Given the description of an element on the screen output the (x, y) to click on. 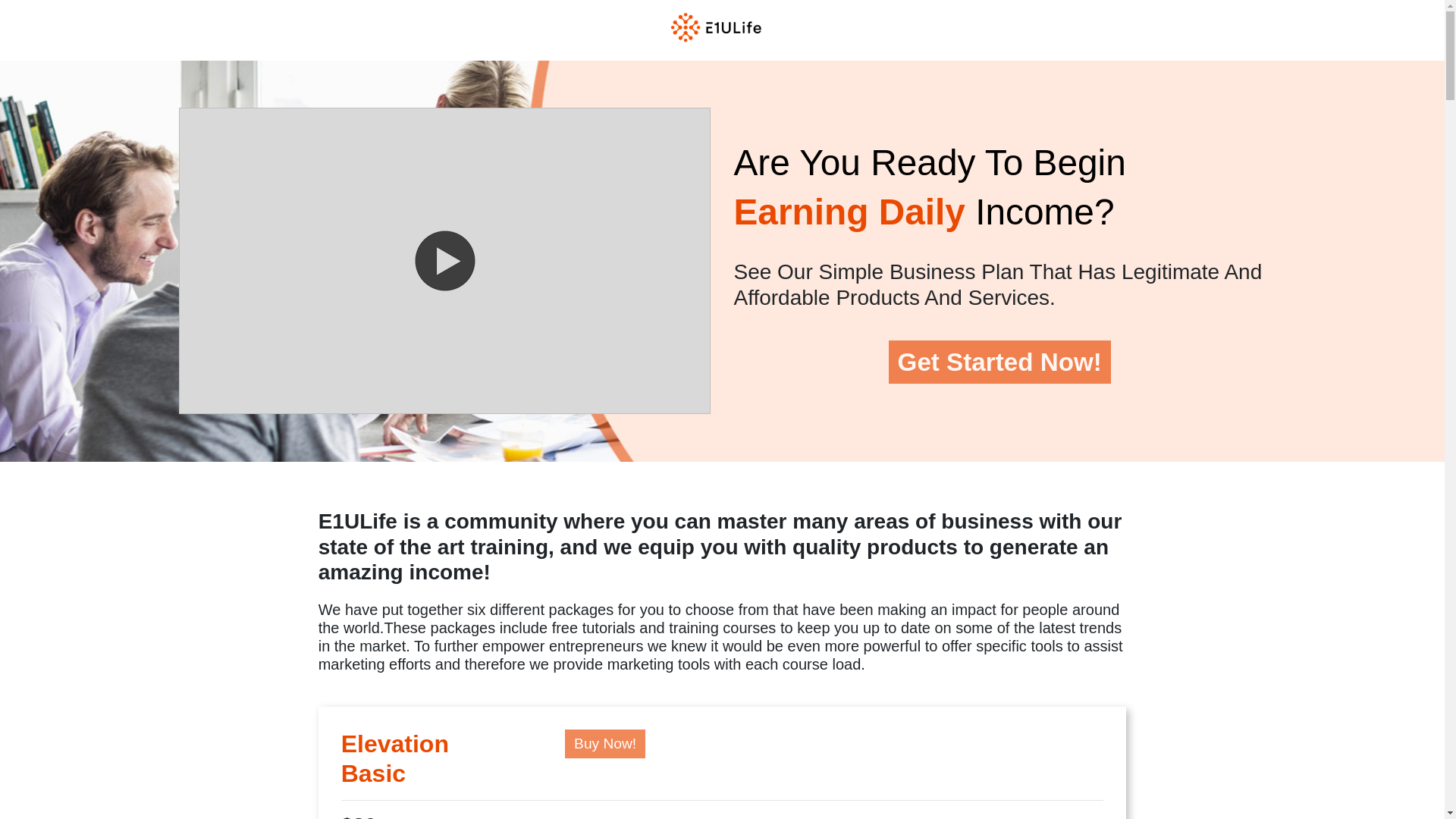
Buy Now! (604, 743)
Get Started Now! (999, 362)
